Given the description of an element on the screen output the (x, y) to click on. 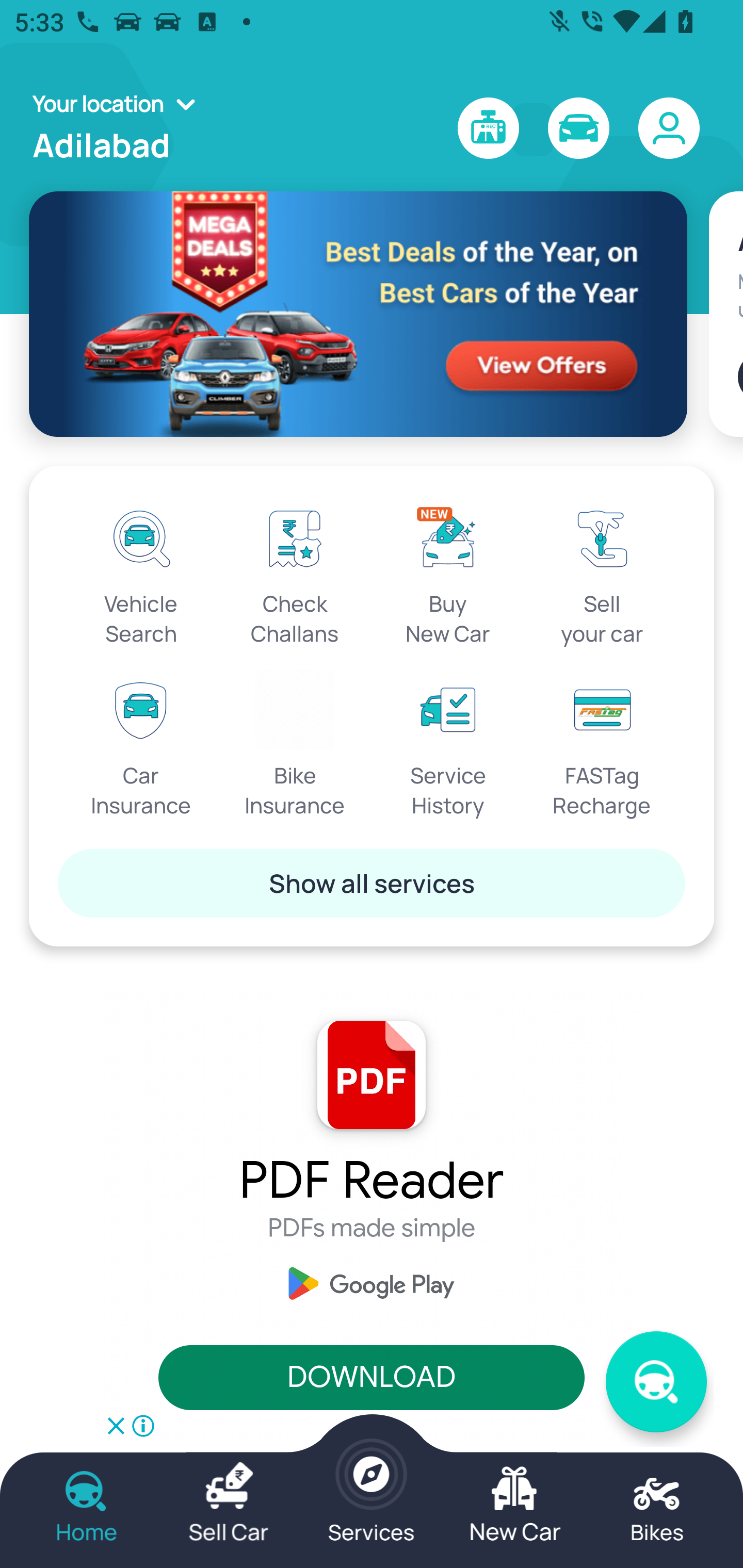
Your location Adilabad (119, 128)
Vehicle
Search (141, 572)
Check
Challans (294, 572)
Buy
New Car (447, 572)
Sell
your car (601, 572)
Car
Insurance (141, 744)
Bike
Insurance (294, 744)
Service
History (447, 744)
FASTag Recharge (601, 744)
Show all services (371, 882)
DOWNLOAD (371, 1377)
